Given the description of an element on the screen output the (x, y) to click on. 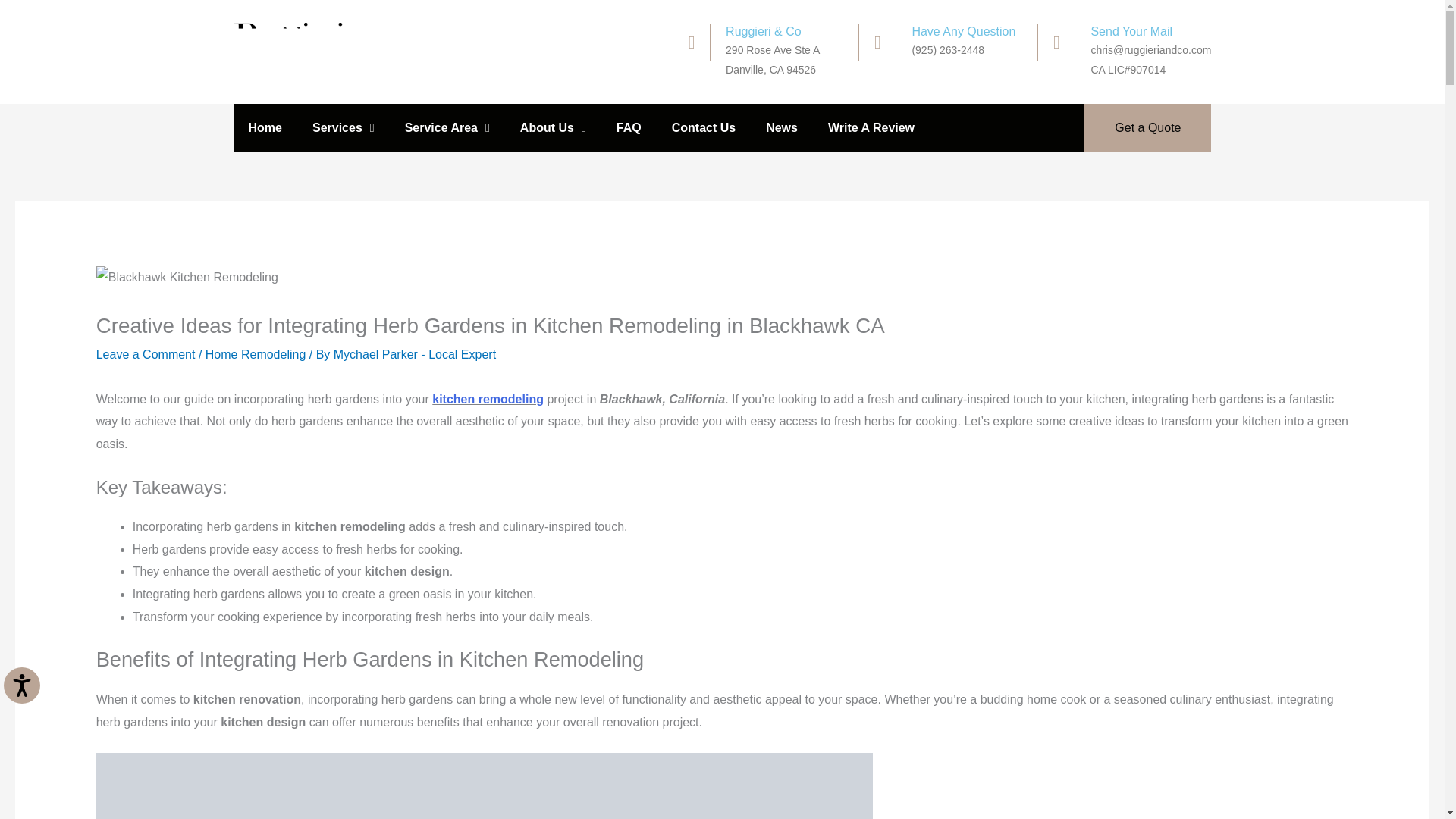
View all posts by Mychael Parker - Local Expert (414, 354)
Services (343, 127)
Accessibility (34, 697)
Send Your Mail (1131, 31)
Service Area (447, 127)
Have Any Question (962, 31)
Home (264, 127)
